Given the description of an element on the screen output the (x, y) to click on. 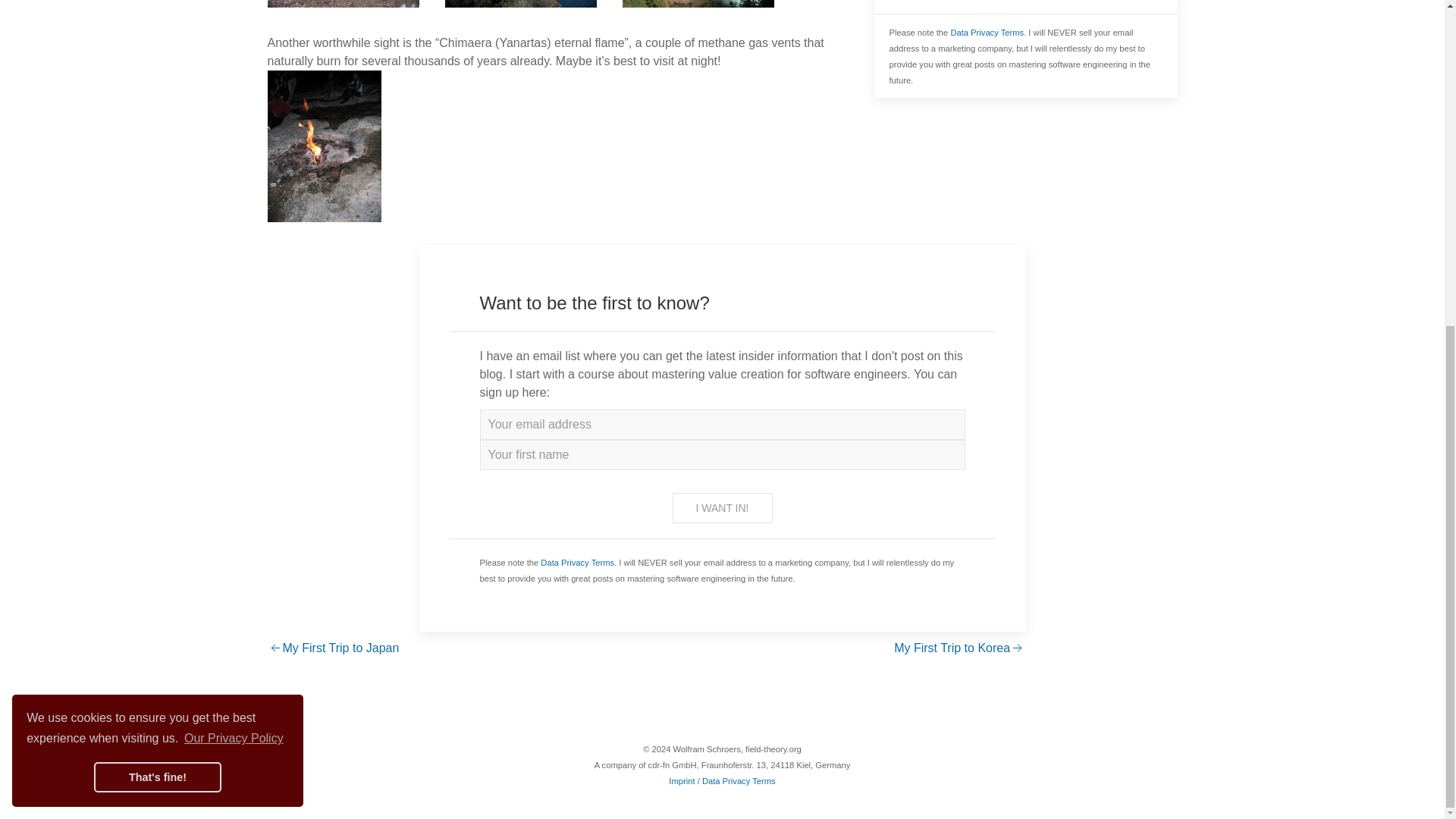
Data Privacy Terms (577, 562)
Data Privacy Terms (738, 780)
Our Privacy Policy (233, 203)
My First Trip to Korea (959, 647)
Imprint (681, 780)
That's fine! (157, 242)
My First Trip to Japan (332, 647)
Data Privacy Terms (986, 31)
I WANT IN! (721, 508)
